Given the description of an element on the screen output the (x, y) to click on. 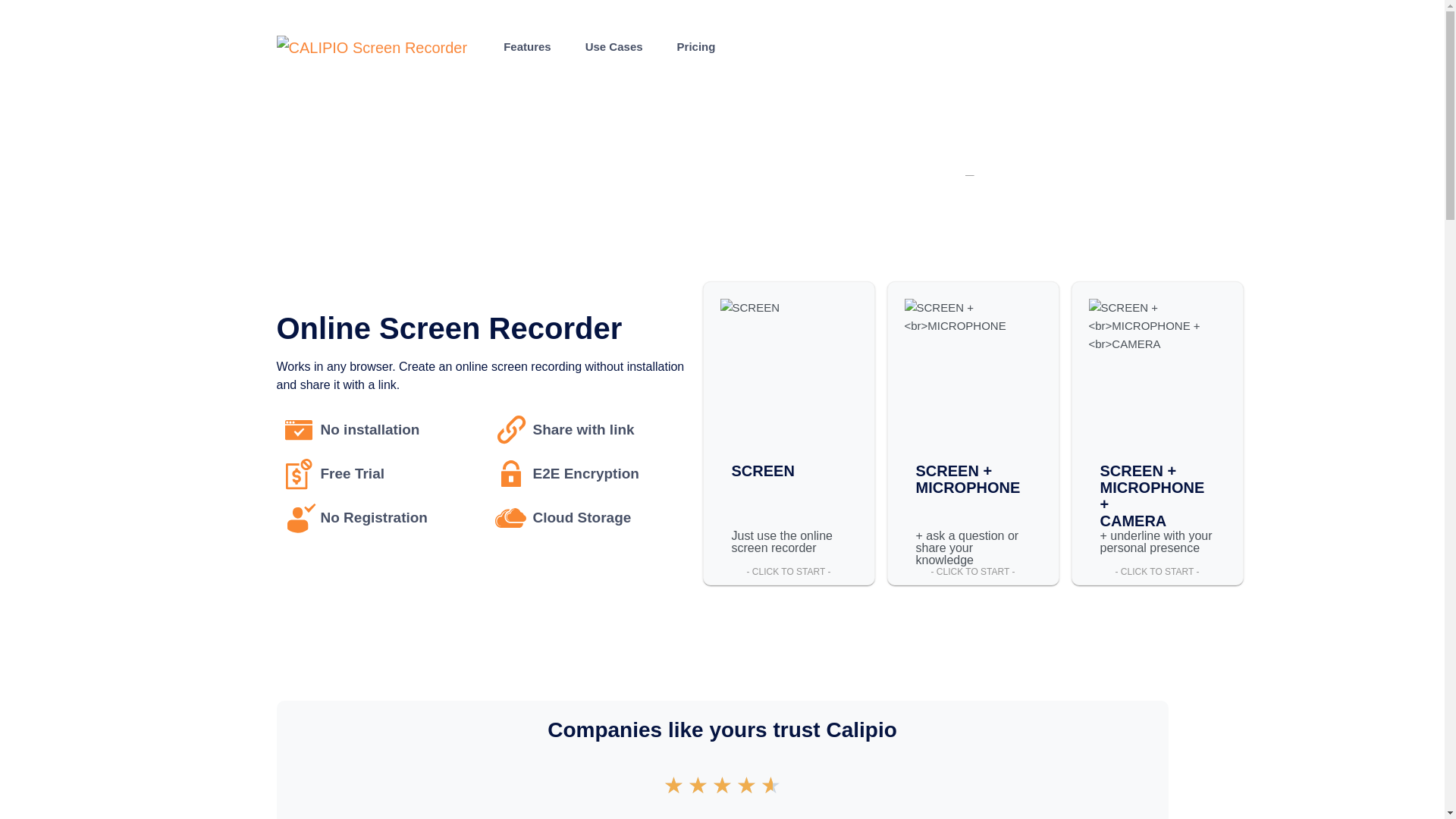
Cloud Storage (595, 517)
Pricing (696, 46)
Free Trial (382, 473)
CLICK TO START (972, 572)
Share with link (595, 429)
Features (527, 46)
No Registration (382, 517)
CLICK TO START (1157, 572)
No installation (382, 429)
E2E Encryption (595, 473)
